Given the description of an element on the screen output the (x, y) to click on. 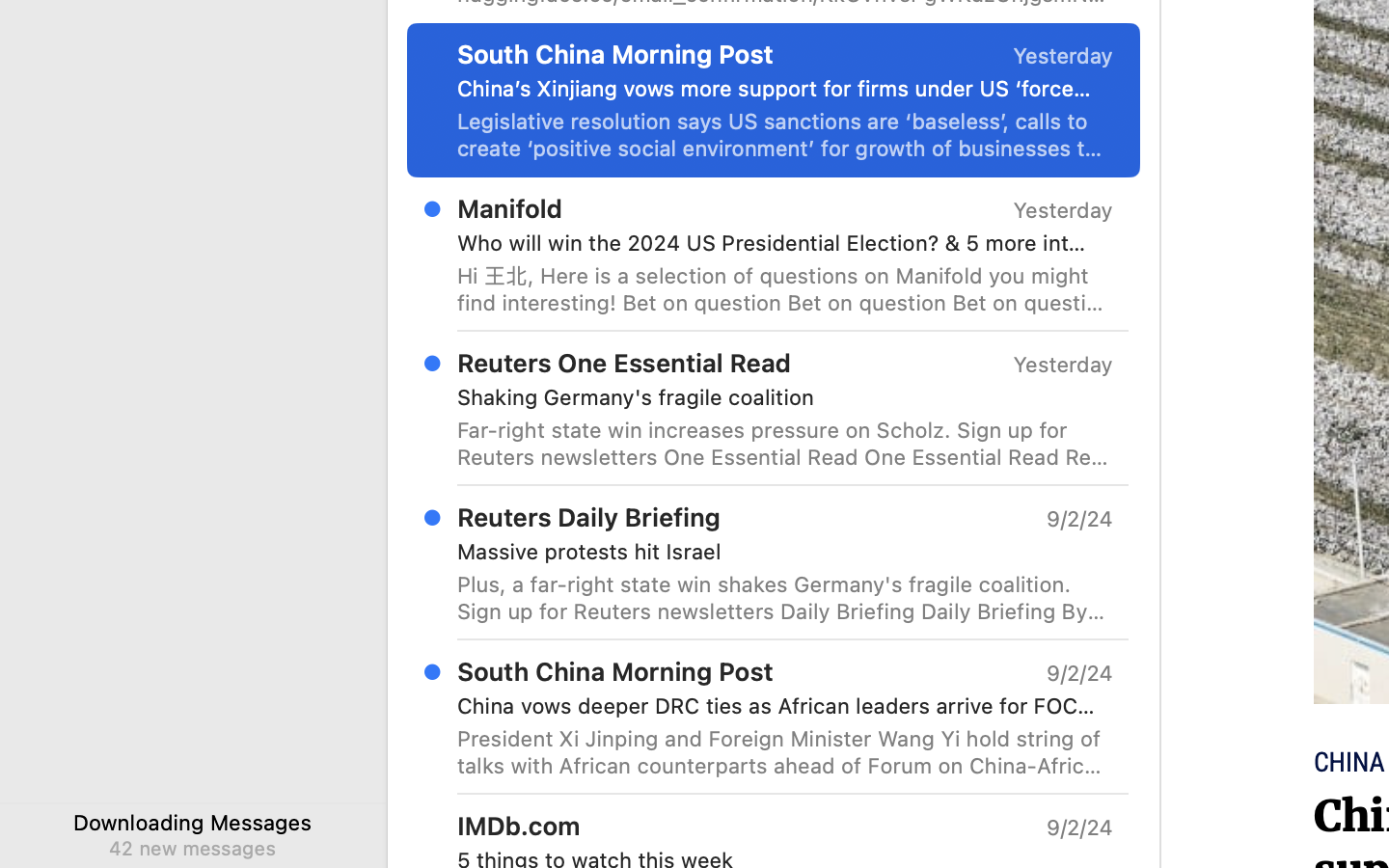
9/2/24 Element type: AXStaticText (1078, 826)
China vows deeper DRC ties as African leaders arrive for FOCAC meetings Element type: AXStaticText (777, 705)
Plus, a far-right state win shakes Germany's fragile coalition. Sign up for Reuters newsletters Daily Briefing Daily Briefing By Edson Caldas Frustration is mounting over Israel's failure to secure a ceasefire deal that would free hostages. Today, we cover massive protests across the country and a general strike. Elsewhere, a far-right state win shakes Germany's fragile coalition, and a Russian missile attack rocks Kyiv and other parts of Ukraine. Plus, the latest from the Paris Paralympics. Today's Top News Hundreds of thousands protested across Israel on Sunday. REUTERS/Florion Goga War in Gaza Municipal services in several Israeli districts were disrupted today after the country's biggest labor union launched a general strike to pressure Prime Minister Benjamin Netanyahu into agreeing to a deal to bring Israeli hostages in Gaza home. Over the weekend, massive protests swept the country following the death of six hostages in Gaza. Crowds estimated by Israeli media to number up to 500 Element type: AXStaticText (784, 597)
Manifold Element type: AXStaticText (510, 207)
China’s Xinjiang vows more support for firms under US ‘forced labour’ sanctions Element type: AXStaticText (777, 88)
